Given the description of an element on the screen output the (x, y) to click on. 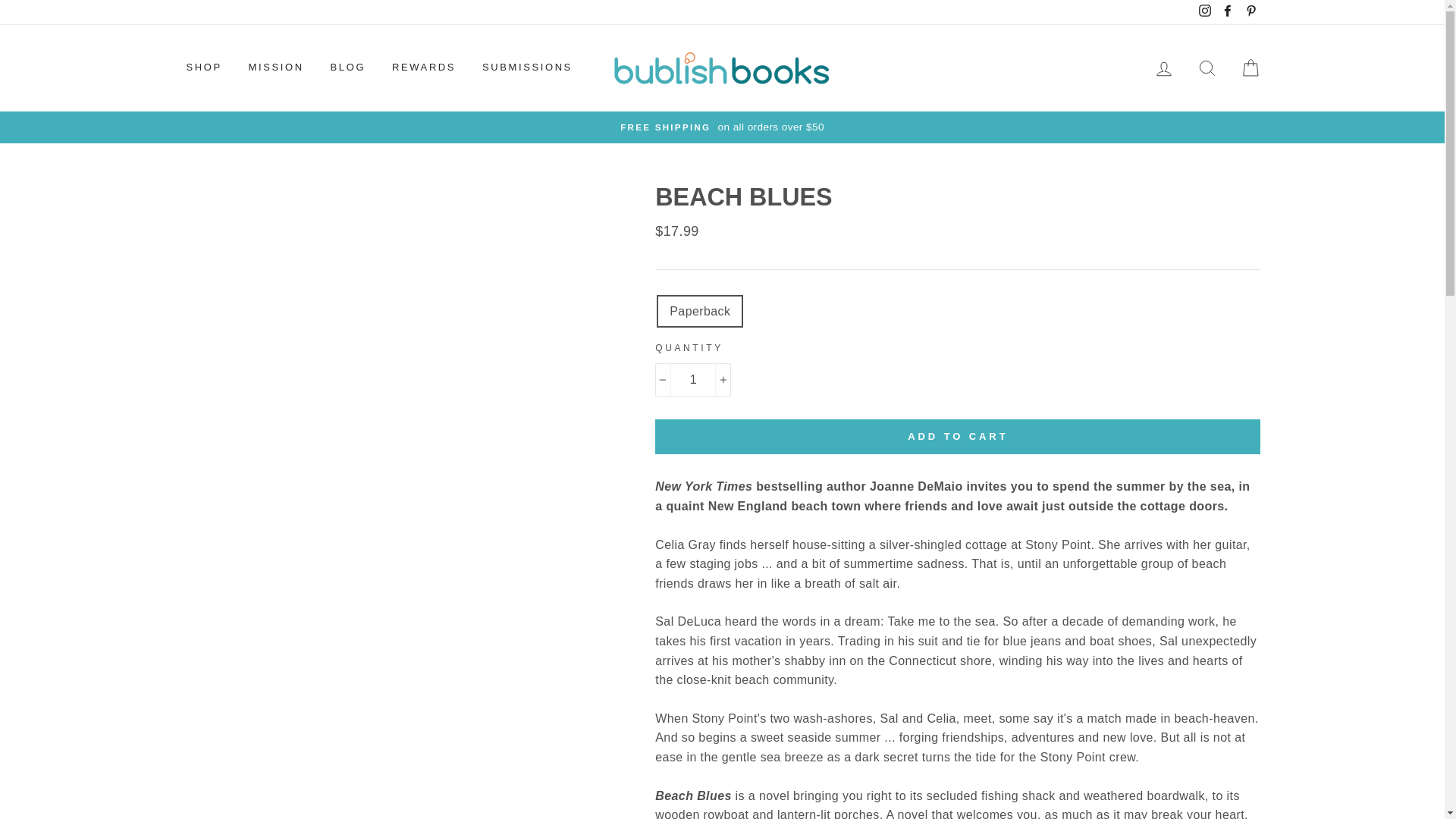
SUBMISSIONS (526, 67)
BLOG (347, 67)
MISSION (276, 67)
REWARDS (423, 67)
CART (1249, 67)
LOG IN (1163, 67)
1 (692, 379)
SEARCH (1207, 67)
